Given the description of an element on the screen output the (x, y) to click on. 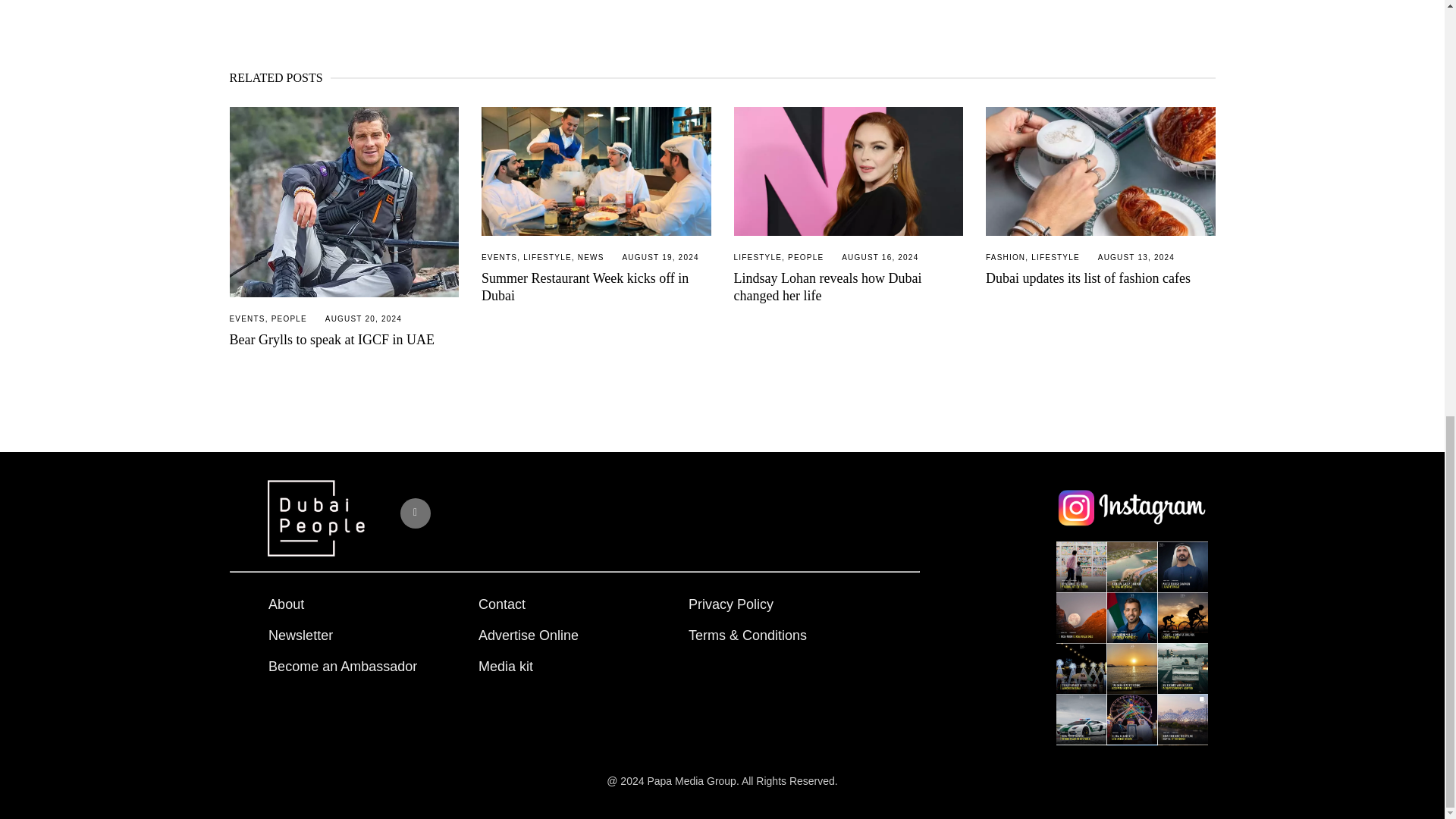
Lindsay Lohan reveals how Dubai changed her life (848, 171)
Dubai updates its list of fashion cafes (1100, 171)
Instagram (415, 512)
Bear Grylls to speak at IGCF in UAE (330, 339)
Lindsay Lohan reveals how Dubai changed her life (827, 287)
Summer Restaurant Week kicks off in Dubai (596, 171)
Dubai updates its list of fashion cafes (1088, 278)
Summer Restaurant Week kicks off in Dubai (584, 287)
Bear Grylls to speak at IGCF in UAE (343, 202)
